Given the description of an element on the screen output the (x, y) to click on. 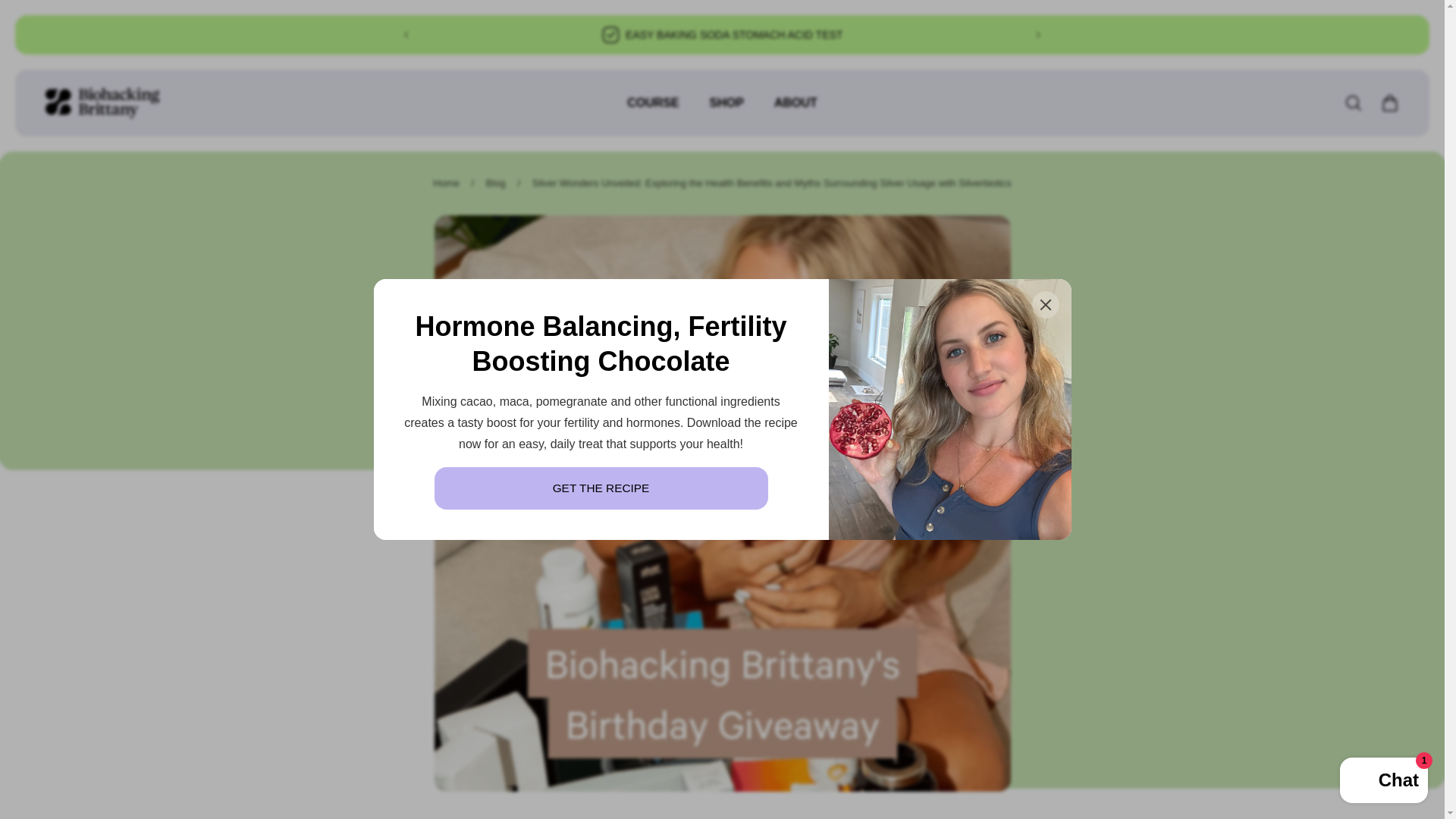
COURSE (652, 110)
SHOP (726, 110)
Shopify online store chat (1383, 781)
ABOUT (795, 110)
GET THE RECIPE (600, 487)
Home (446, 183)
Blog (495, 183)
